Given the description of an element on the screen output the (x, y) to click on. 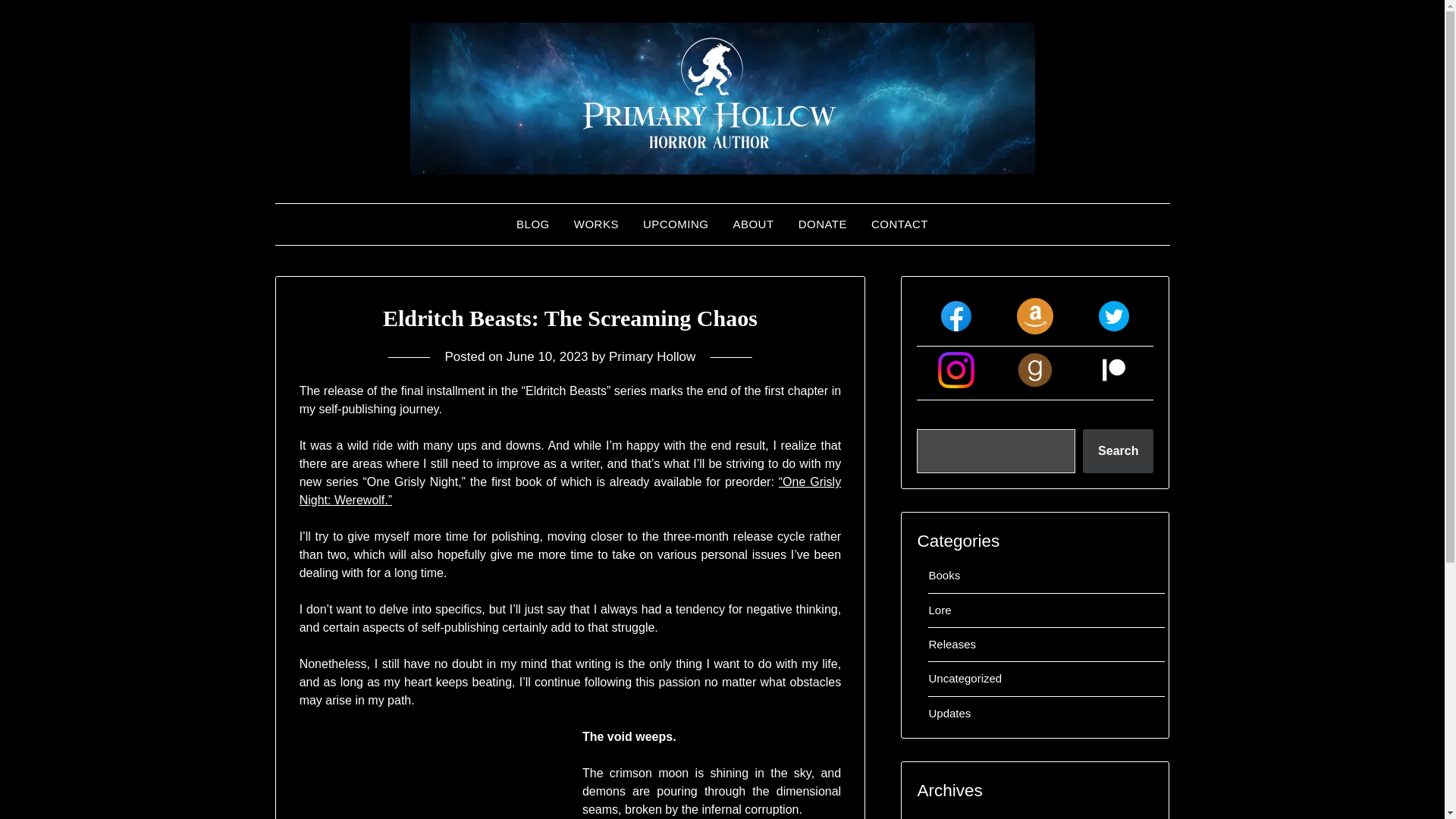
Primary Hollow (651, 356)
Search (1118, 451)
June 10, 2023 (547, 356)
Releases (951, 644)
CONTACT (899, 223)
UPCOMING (675, 223)
ABOUT (753, 223)
BLOG (532, 223)
Updates (949, 712)
Books (943, 574)
